Given the description of an element on the screen output the (x, y) to click on. 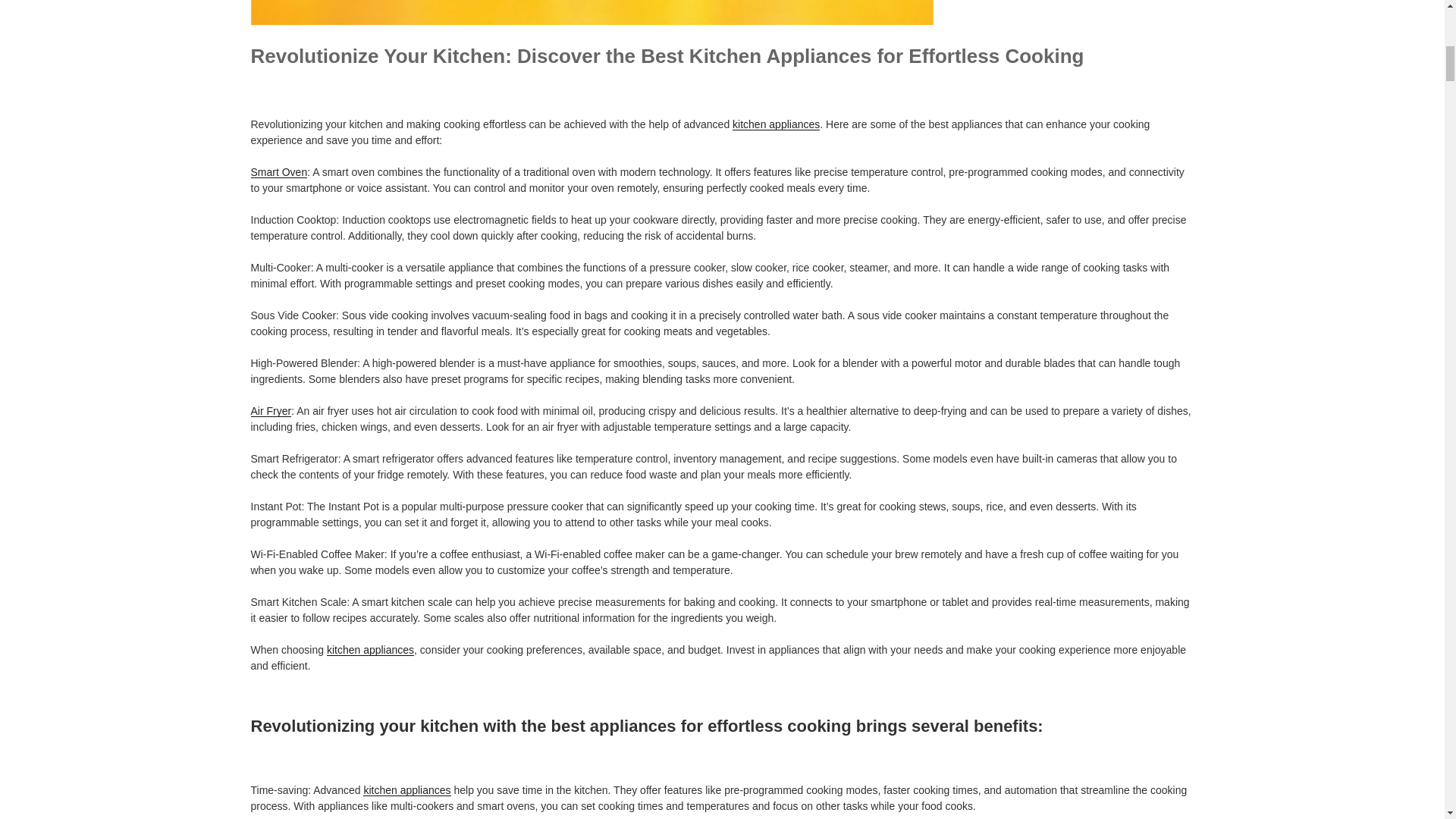
kitchen appliances (405, 789)
Smart Oven (278, 172)
kitchen appliances (369, 649)
Air Fryer (270, 410)
kitchen appliances (775, 123)
